Given the description of an element on the screen output the (x, y) to click on. 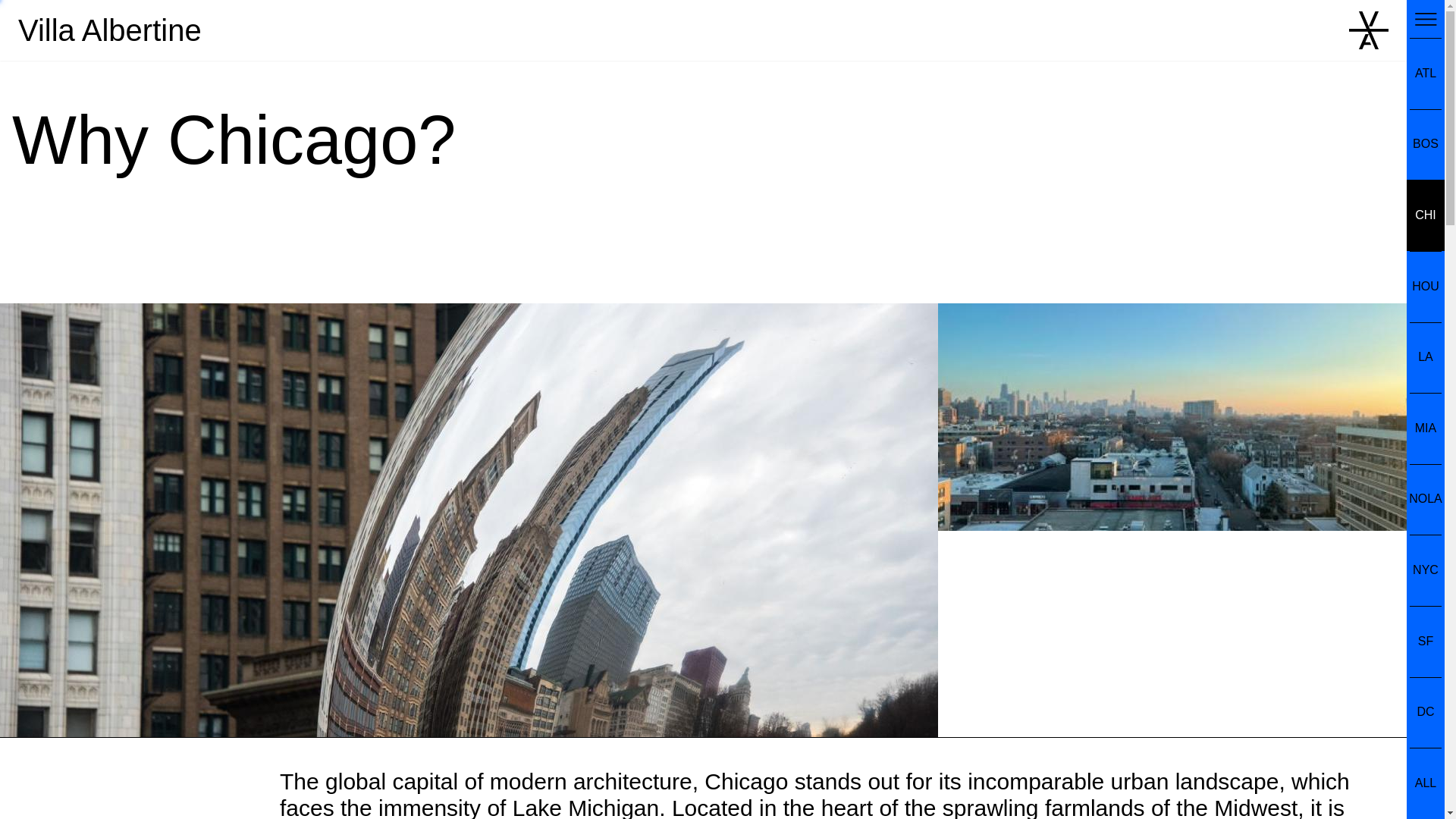
Villa Albertine (109, 29)
